Given the description of an element on the screen output the (x, y) to click on. 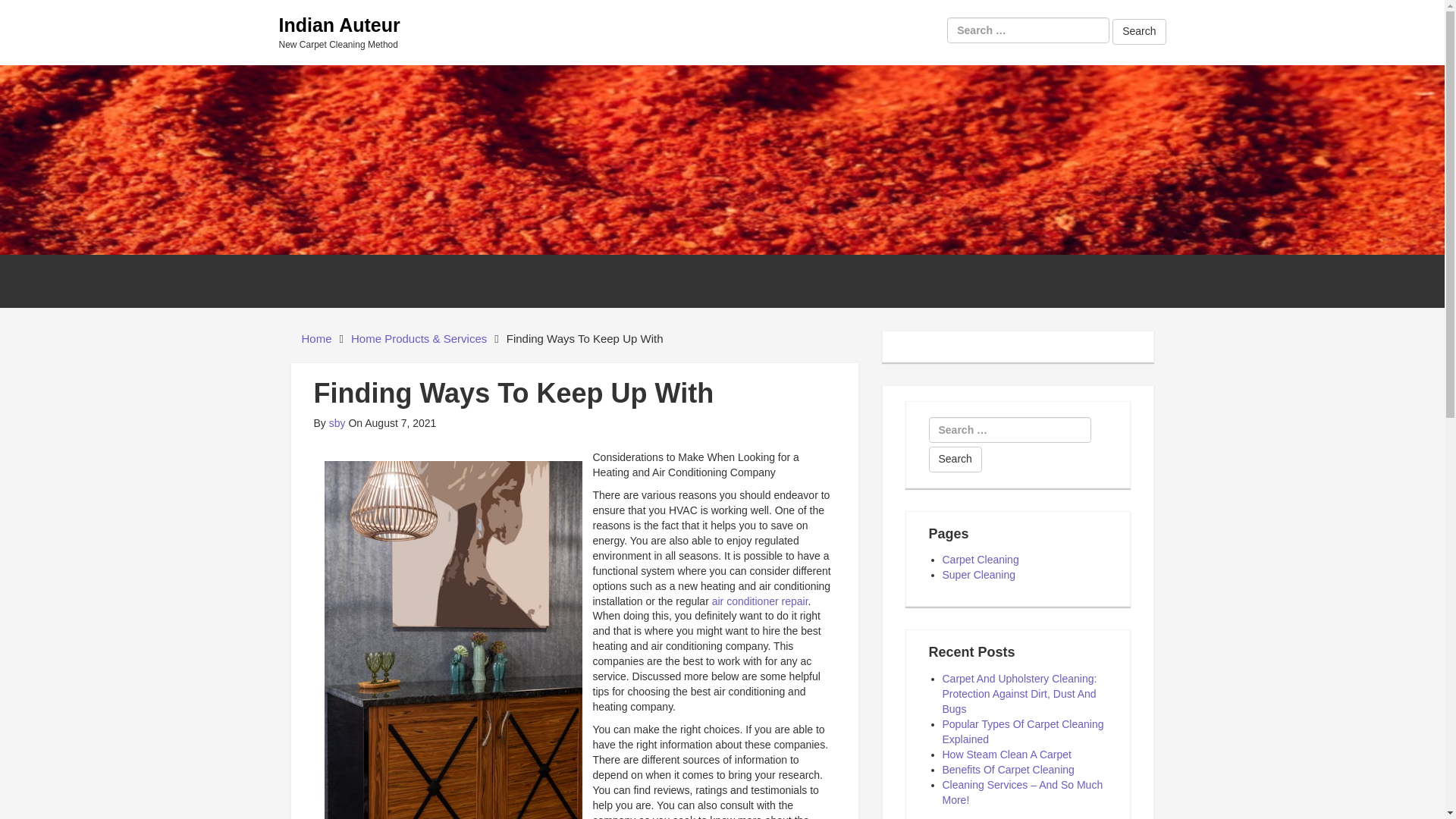
air conditioner repair (758, 600)
Search (954, 459)
Search (1139, 31)
Benefits Of Carpet Cleaning (1008, 769)
Popular Types Of Carpet Cleaning Explained (1022, 731)
Indian Auteur (339, 25)
Posts by sby (337, 422)
Saturday, August 7, 2021, 6:47 am (391, 422)
Search (1139, 31)
